Given the description of an element on the screen output the (x, y) to click on. 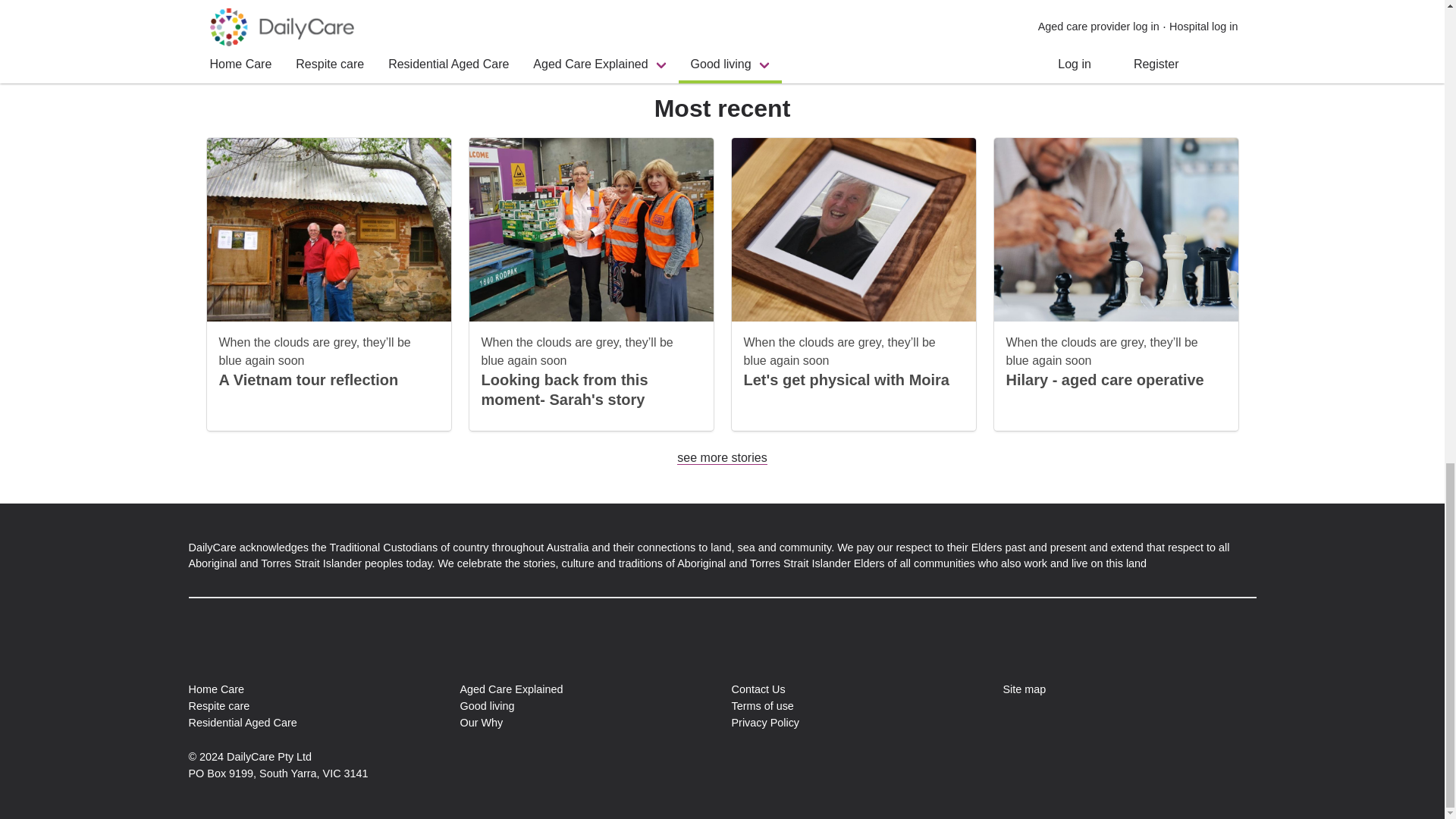
A Vietnam tour reflection  (307, 379)
Let's get physical with Moira (845, 379)
Let's get physical with Moira (845, 379)
email us (572, 0)
A Vietnam tour reflection (307, 379)
Looking back from this moment- Sarah's story (563, 389)
Looking back from this moment- Sarah's story (563, 389)
Hilary - aged care operative (1105, 379)
